Given the description of an element on the screen output the (x, y) to click on. 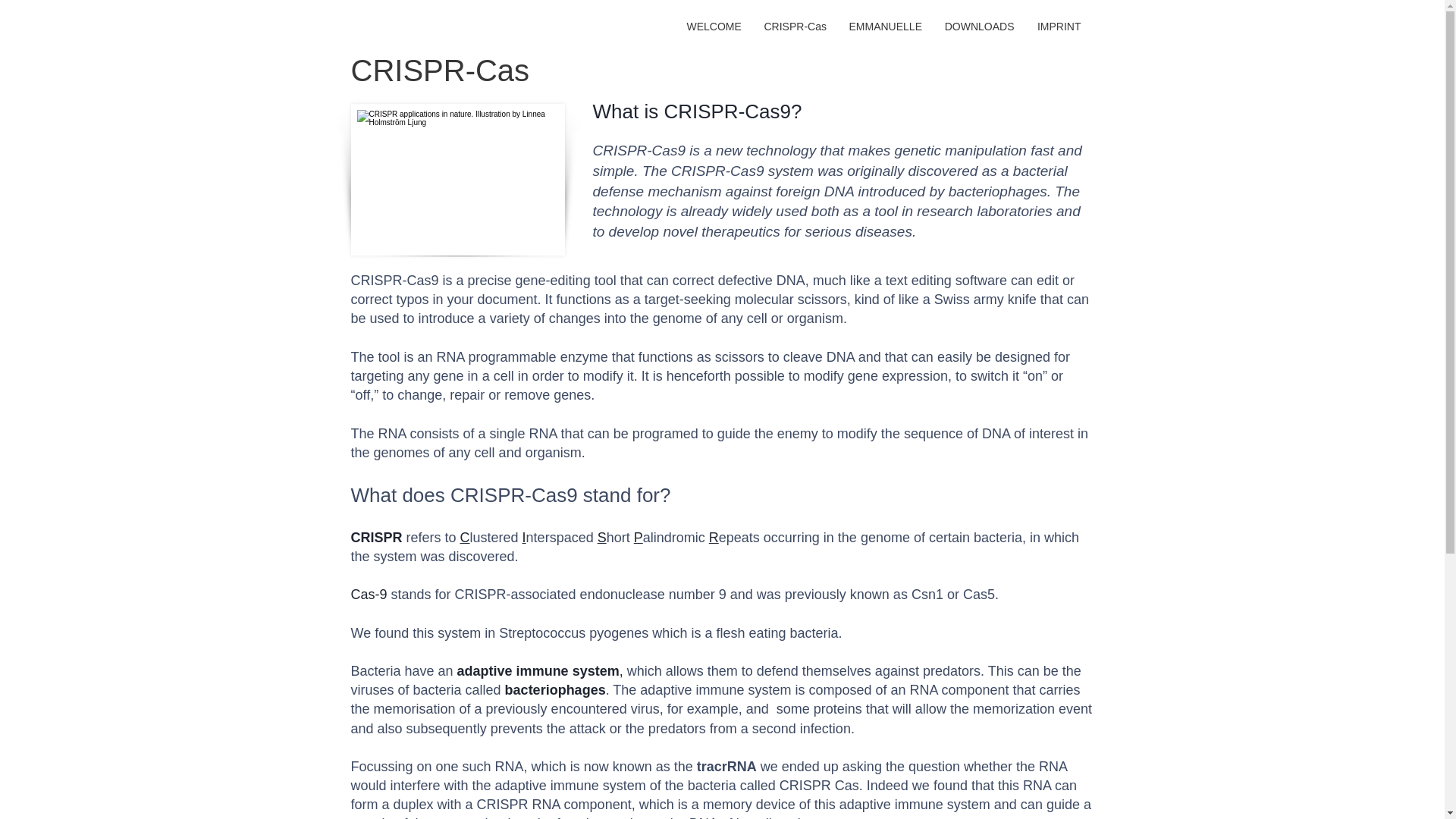
IMPRINT (1058, 26)
CRISPR-Cas (794, 26)
WELCOME (713, 26)
DOWNLOADS (979, 26)
